Given the description of an element on the screen output the (x, y) to click on. 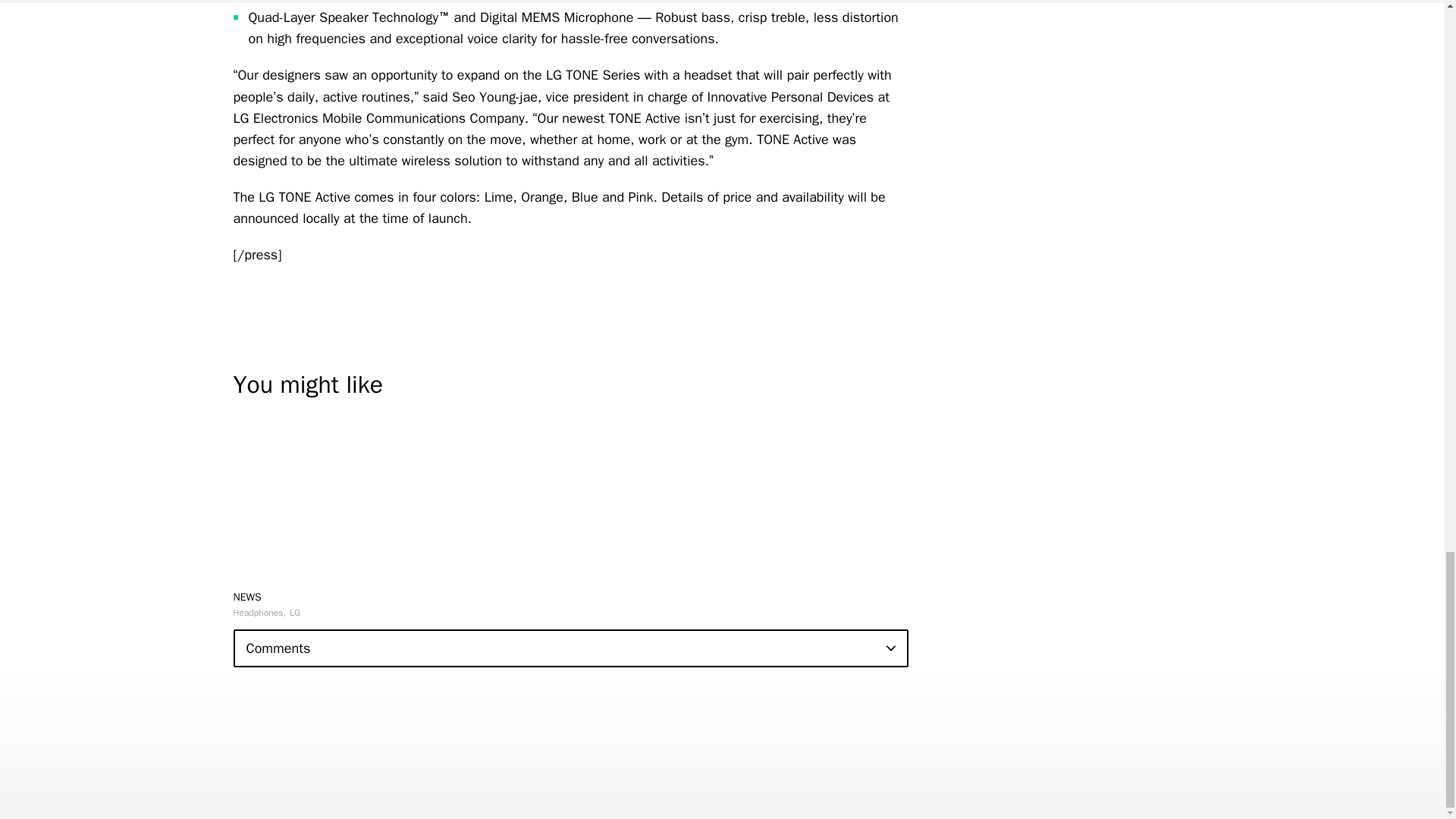
LG (294, 612)
Comments (570, 648)
NEWS (247, 596)
Headphones (259, 612)
